Given the description of an element on the screen output the (x, y) to click on. 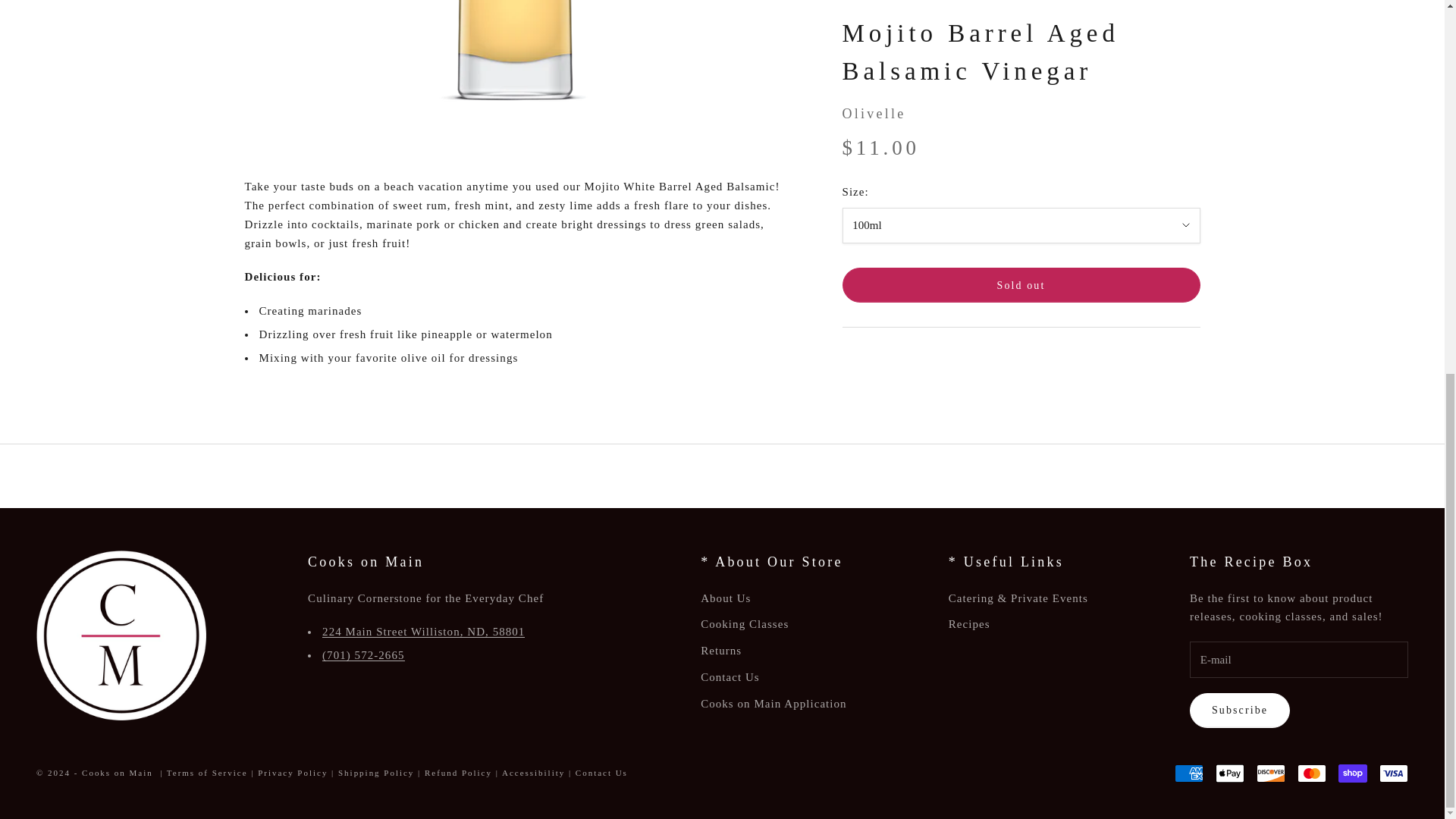
tel:7015722665 (362, 654)
